Given the description of an element on the screen output the (x, y) to click on. 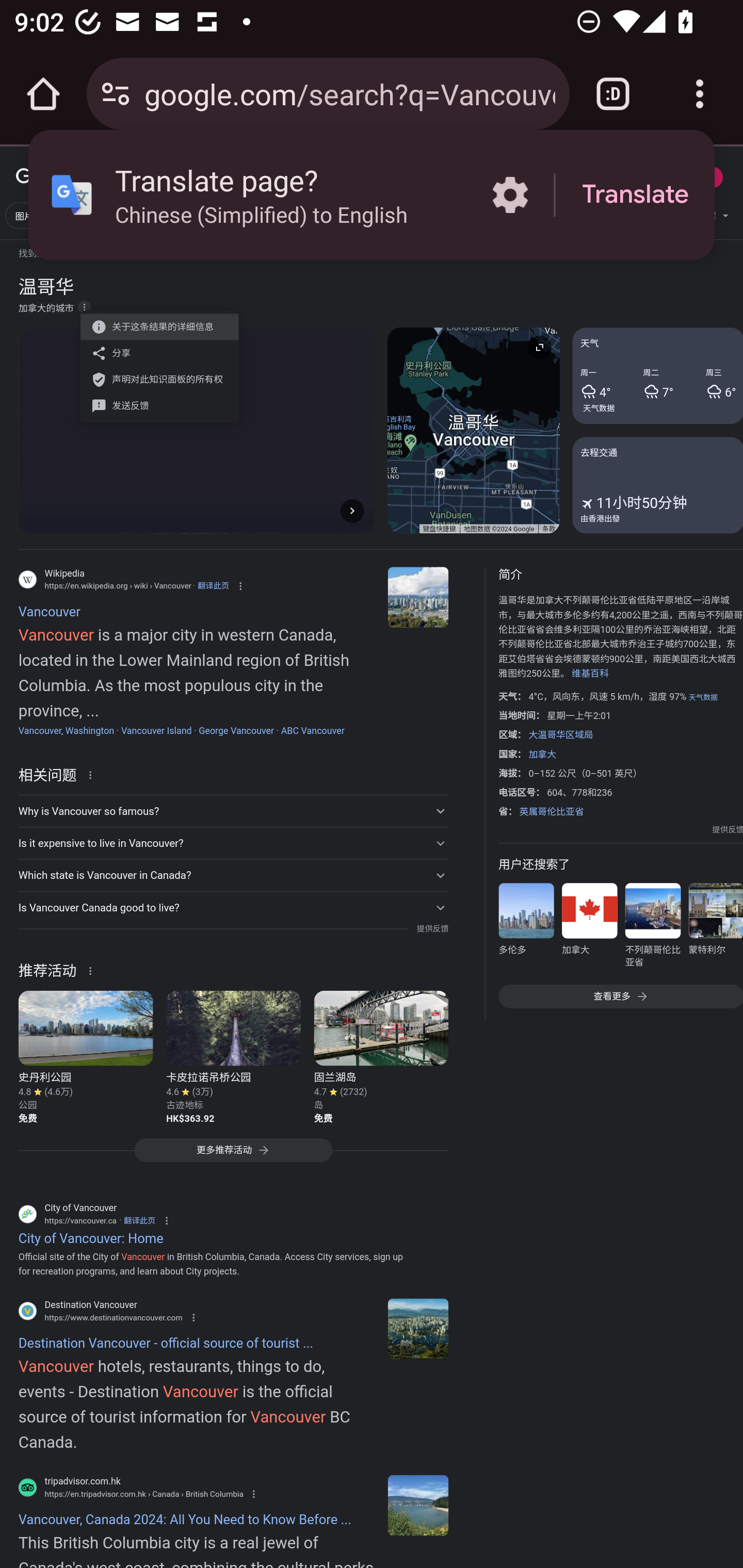
Open the home page (43, 93)
Connection is secure (115, 93)
Switch or close tabs (612, 93)
Customize and control Google Chrome (699, 93)
Translate (634, 195)
More options in the Translate page? (509, 195)
更多选项 (84, 306)
关于这条结果的详细信息 (154, 326)
天气 周一 高温 4 度 周二 高温 7 度 周三 高温 6 度 (657, 375)
展开地图 (539, 346)
分享 (154, 352)
声明对此知识面板的所有权 (154, 378)
发送反馈 (154, 405)
天气数据 (599, 407)
去程交通 11小时50分钟 乘坐飞机 由香港出發 (657, 484)
下一张图片 (352, 510)
Vancouver (417, 597)
翻译此页 (212, 585)
维基百科 (590, 672)
天气数据 (703, 697)
Vancouver, Washington (65, 730)
Vancouver Island (155, 730)
George Vancouver (236, 730)
ABC Vancouver (312, 730)
大温哥华区域局 (560, 734)
加拿大 (541, 753)
关于这条结果的详细信息 (93, 773)
Why is Vancouver so famous? (232, 810)
英属哥伦比亚省 (551, 810)
提供反馈 (727, 829)
Is it expensive to live in Vancouver? (232, 843)
Which state is Vancouver in Canada? (232, 875)
多伦多 (526, 927)
加拿大 (588, 927)
不列颠哥伦比亚省 (652, 927)
蒙特利尔 (715, 927)
Is Vancouver Canada good to live? (232, 906)
提供反馈 (432, 927)
关于这条结果的详细信息 (93, 969)
查看更多 查看更多 查看更多 (620, 996)
更多推荐活动 (232, 1155)
翻译此页 (139, 1220)
www.destinationvancouver (417, 1328)
